Given the description of an element on the screen output the (x, y) to click on. 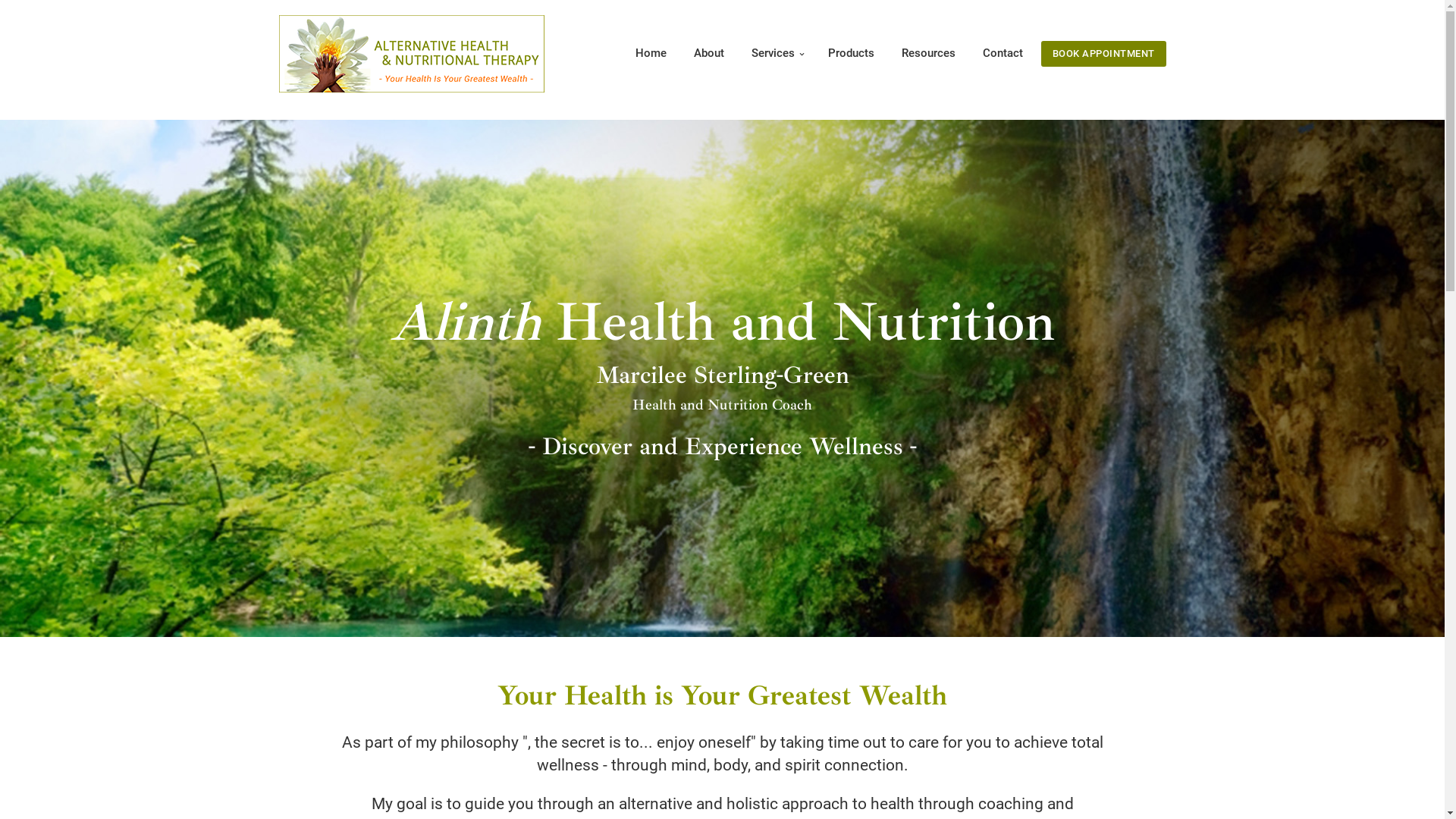
Services Element type: text (777, 53)
Products Element type: text (850, 52)
Resources Element type: text (928, 52)
Home Element type: text (650, 52)
About Element type: text (708, 52)
Contact Element type: text (996, 52)
BOOK APPOINTMENT Element type: text (1103, 53)
